Given the description of an element on the screen output the (x, y) to click on. 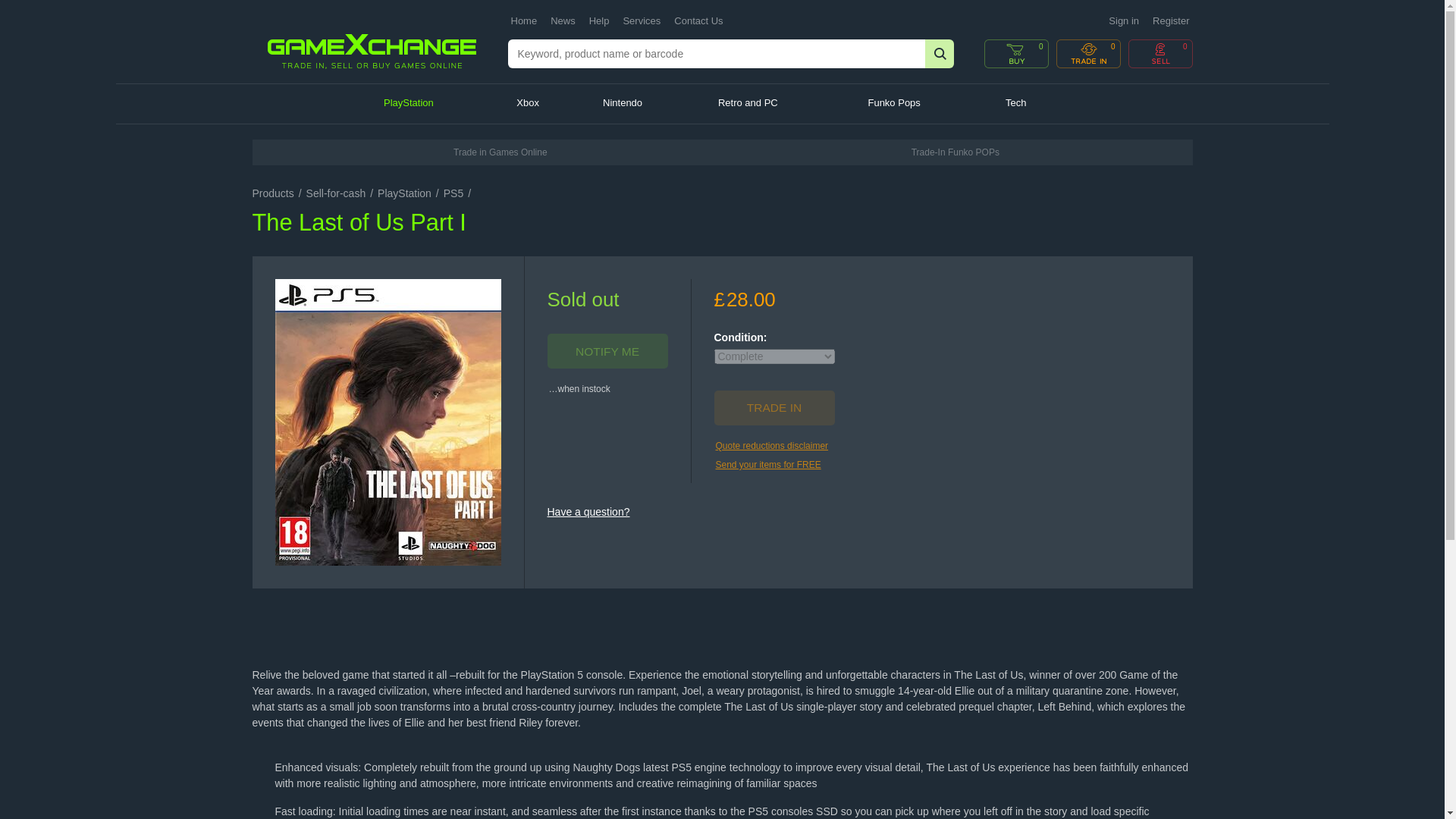
Notify me (607, 350)
Services (642, 21)
Retro and PC (778, 103)
Sell, Trade or Buy Xbox for cash (545, 103)
PlayStation (435, 103)
Home (524, 21)
PS5 (453, 193)
Sign in (1123, 20)
